Given the description of an element on the screen output the (x, y) to click on. 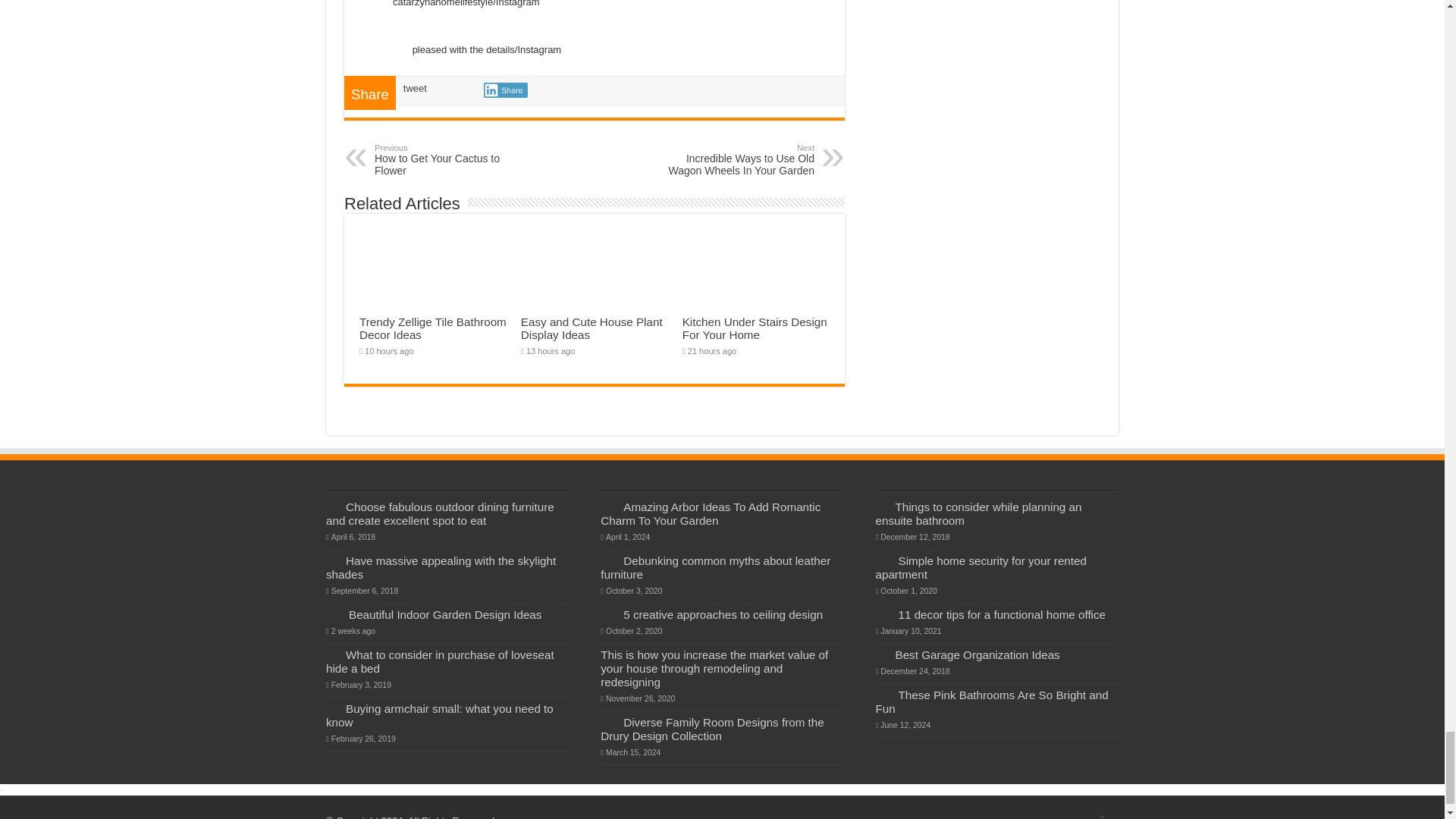
tweet (414, 88)
Share (736, 159)
Rss (505, 89)
Trendy Zellige Tile Bathroom Decor Ideas (1102, 815)
